Given the description of an element on the screen output the (x, y) to click on. 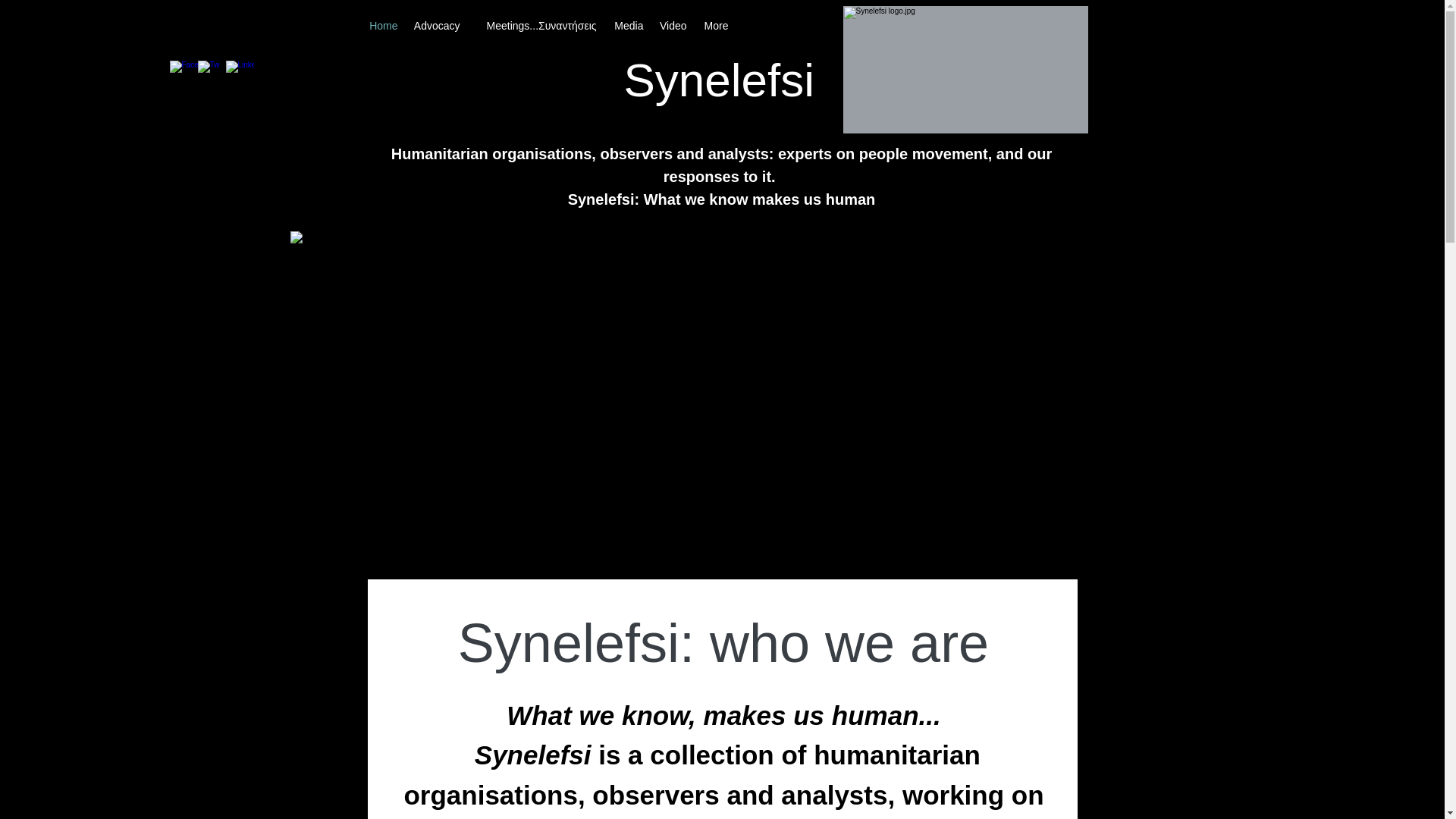
Video (672, 25)
Media (627, 25)
Advocacy (435, 25)
Home (383, 25)
